Given the description of an element on the screen output the (x, y) to click on. 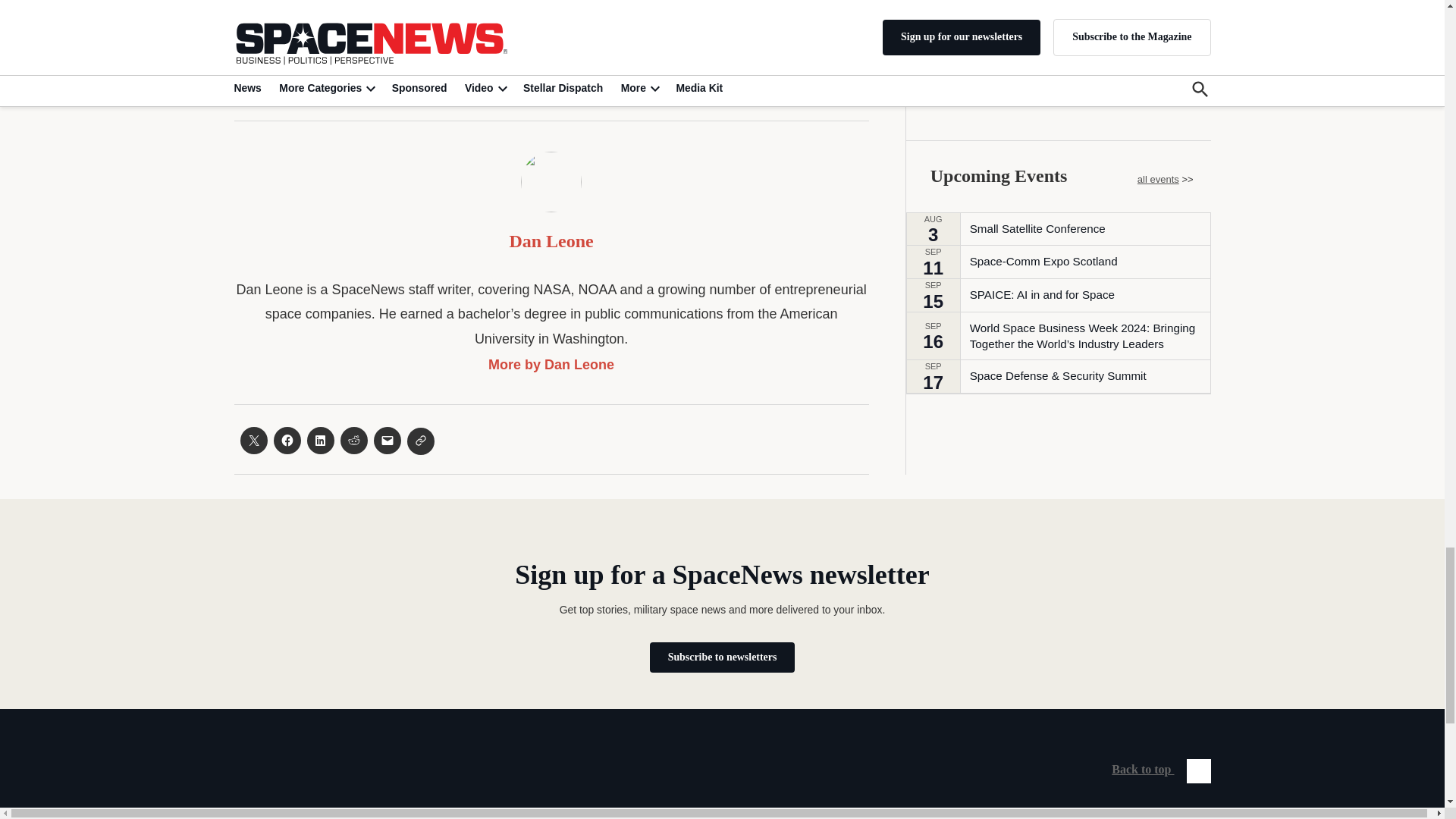
Click to share on LinkedIn (319, 440)
Click to share on Clipboard (419, 441)
Click to email a link to a friend (386, 440)
Click to share on Facebook (286, 440)
Click to share on X (253, 440)
Click to share on Reddit (352, 440)
